Given the description of an element on the screen output the (x, y) to click on. 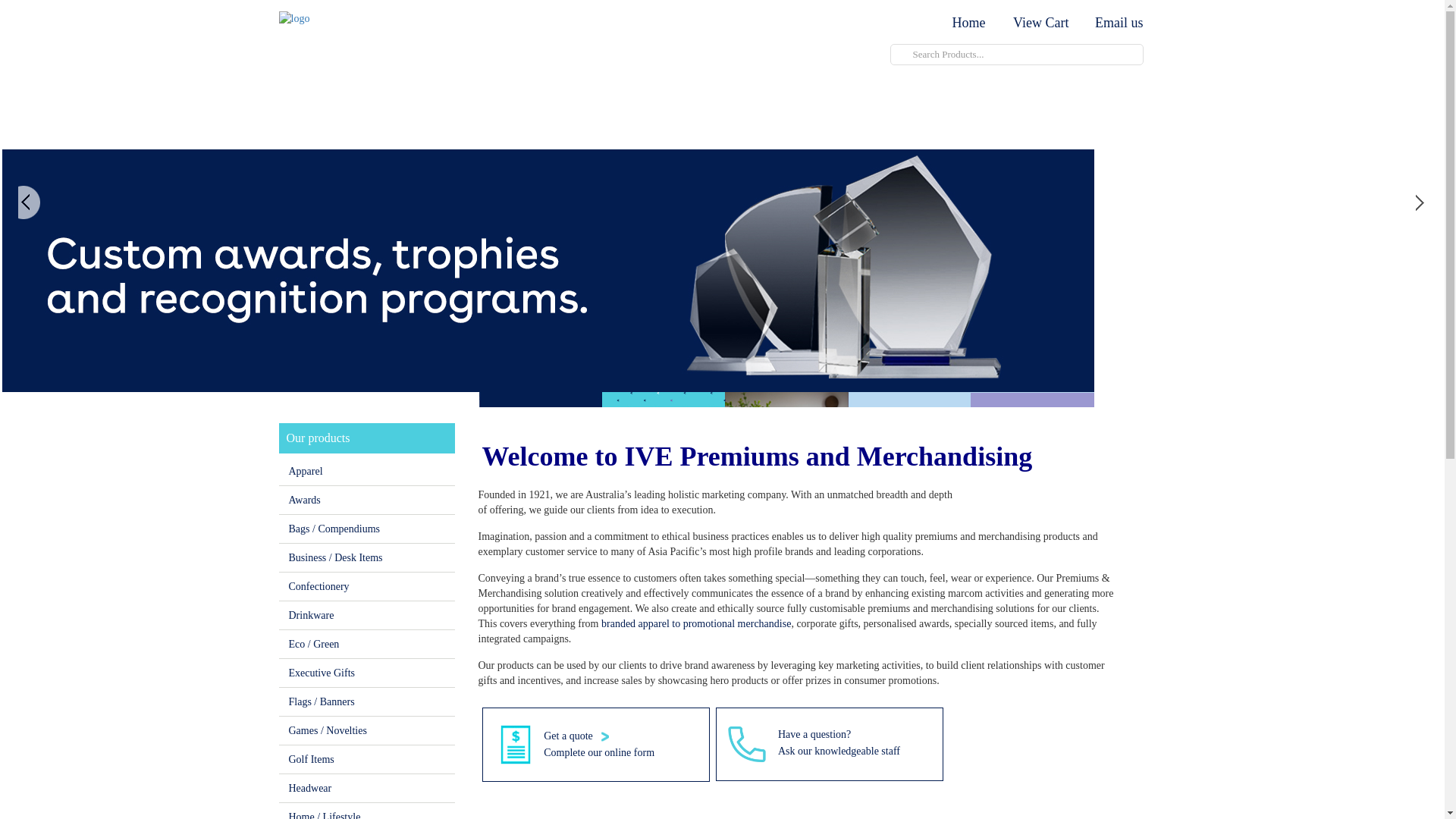
View Cart Element type: text (1040, 22)
Home Element type: text (966, 22)
Get a quote Element type: text (569, 735)
Complete our online form Element type: text (598, 752)
Have a question?
Ask our knowledgeable staff Element type: text (839, 742)
Email us Element type: text (1114, 22)
branded apparel to promotional merchandise Element type: text (695, 623)
